Given the description of an element on the screen output the (x, y) to click on. 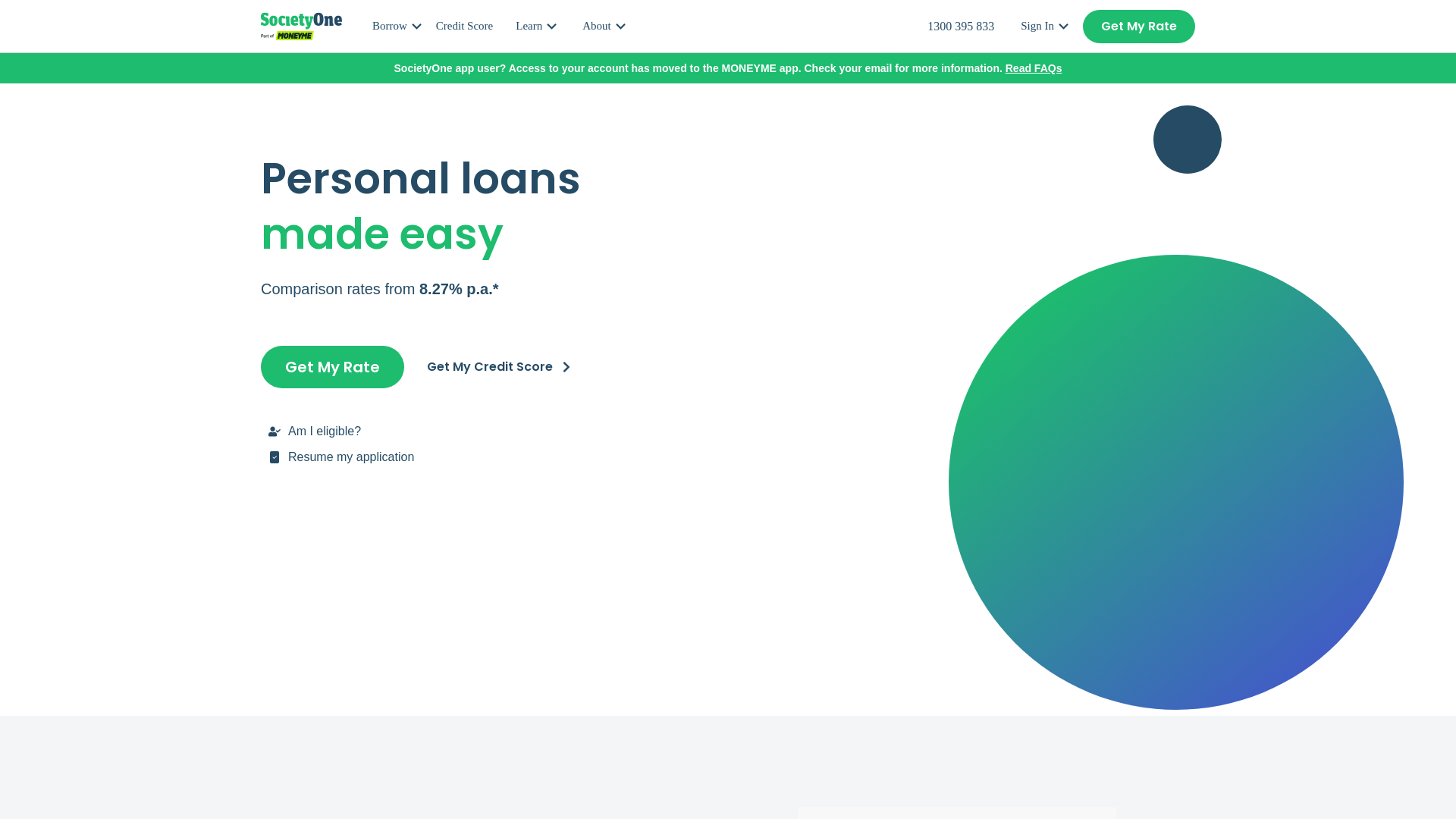
About (605, 25)
Get My Rate (332, 366)
Get My Rate (1139, 25)
Resume my application (491, 457)
Sign In (1046, 25)
Read FAQs (1034, 68)
Learn (536, 25)
1300 395 833 (960, 25)
Credit Score (469, 26)
Am I eligible? (491, 431)
